Given the description of an element on the screen output the (x, y) to click on. 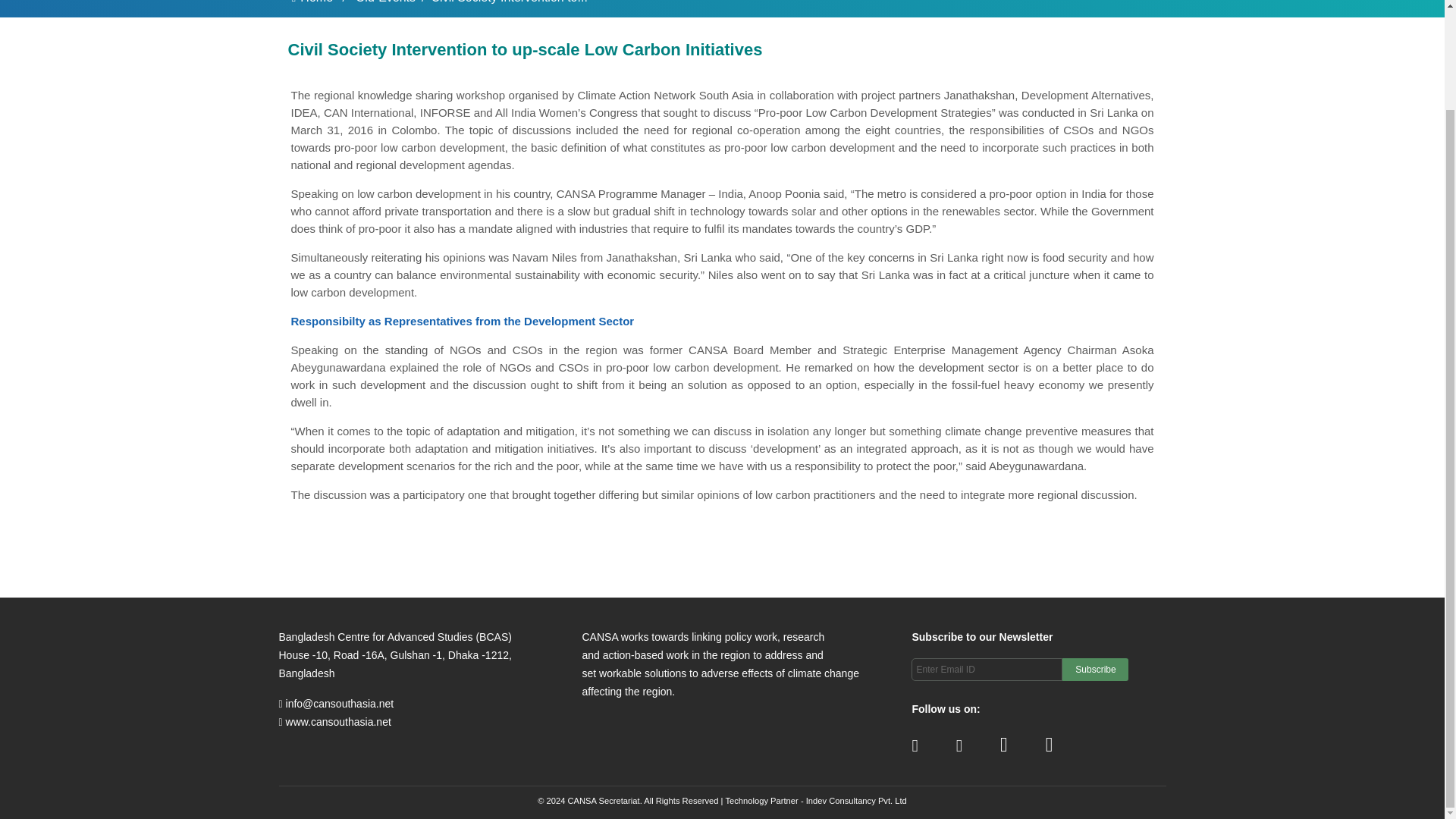
Old-Events (384, 2)
Category Name (383, 2)
